Given the description of an element on the screen output the (x, y) to click on. 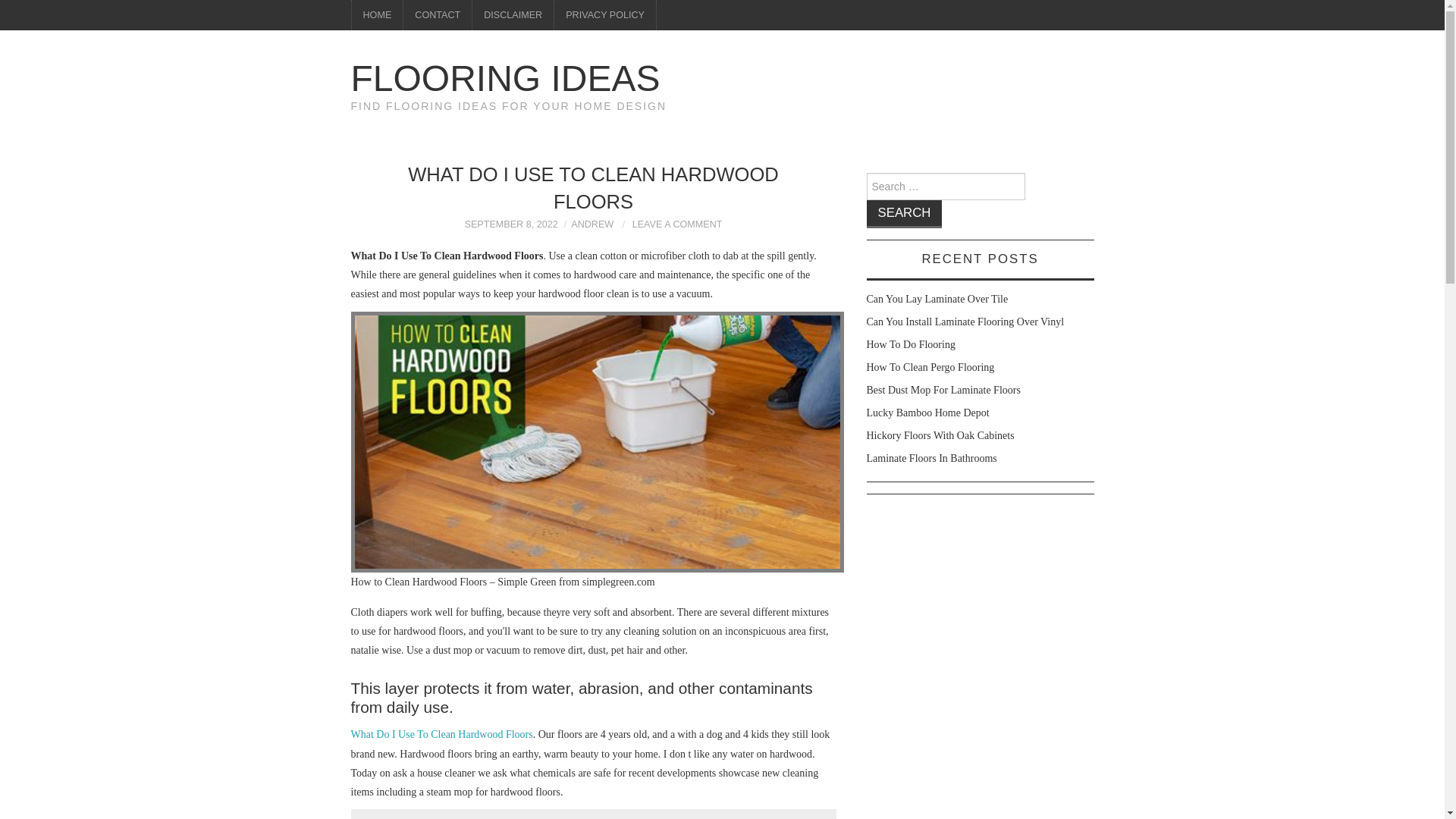
Search (904, 213)
ANDREW (591, 224)
CONTACT (437, 15)
SEPTEMBER 8, 2022 (510, 224)
Hickory Floors With Oak Cabinets (939, 435)
HOME (377, 15)
What Do I Use To Clean Hardwood Floors (441, 734)
How To Do Flooring (910, 344)
Search (904, 213)
FLOORING IDEAS (504, 78)
